Given the description of an element on the screen output the (x, y) to click on. 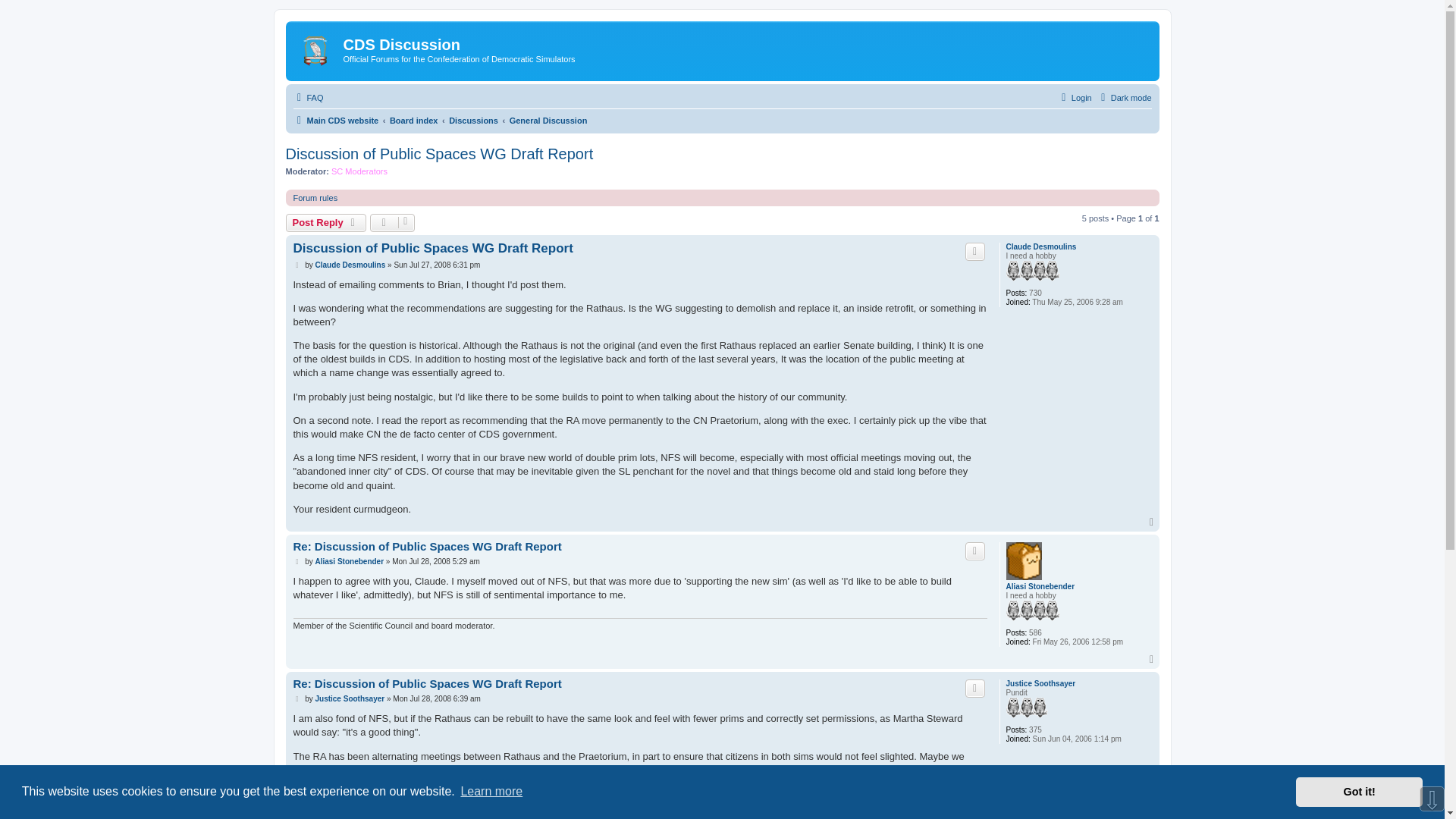
Discussions (472, 120)
Board index (414, 120)
SC Moderators (359, 171)
General Discussion (548, 120)
Post (297, 265)
Login (1075, 97)
Post a reply (325, 222)
Board index (414, 120)
Claude Desmoulins (1040, 246)
Frequently Asked Questions (307, 97)
Dark mode (1124, 97)
Discussion of Public Spaces WG Draft Report (438, 153)
Discussion of Public Spaces WG Draft Report (432, 248)
Reply with quote (975, 251)
Learn more (491, 791)
